Given the description of an element on the screen output the (x, y) to click on. 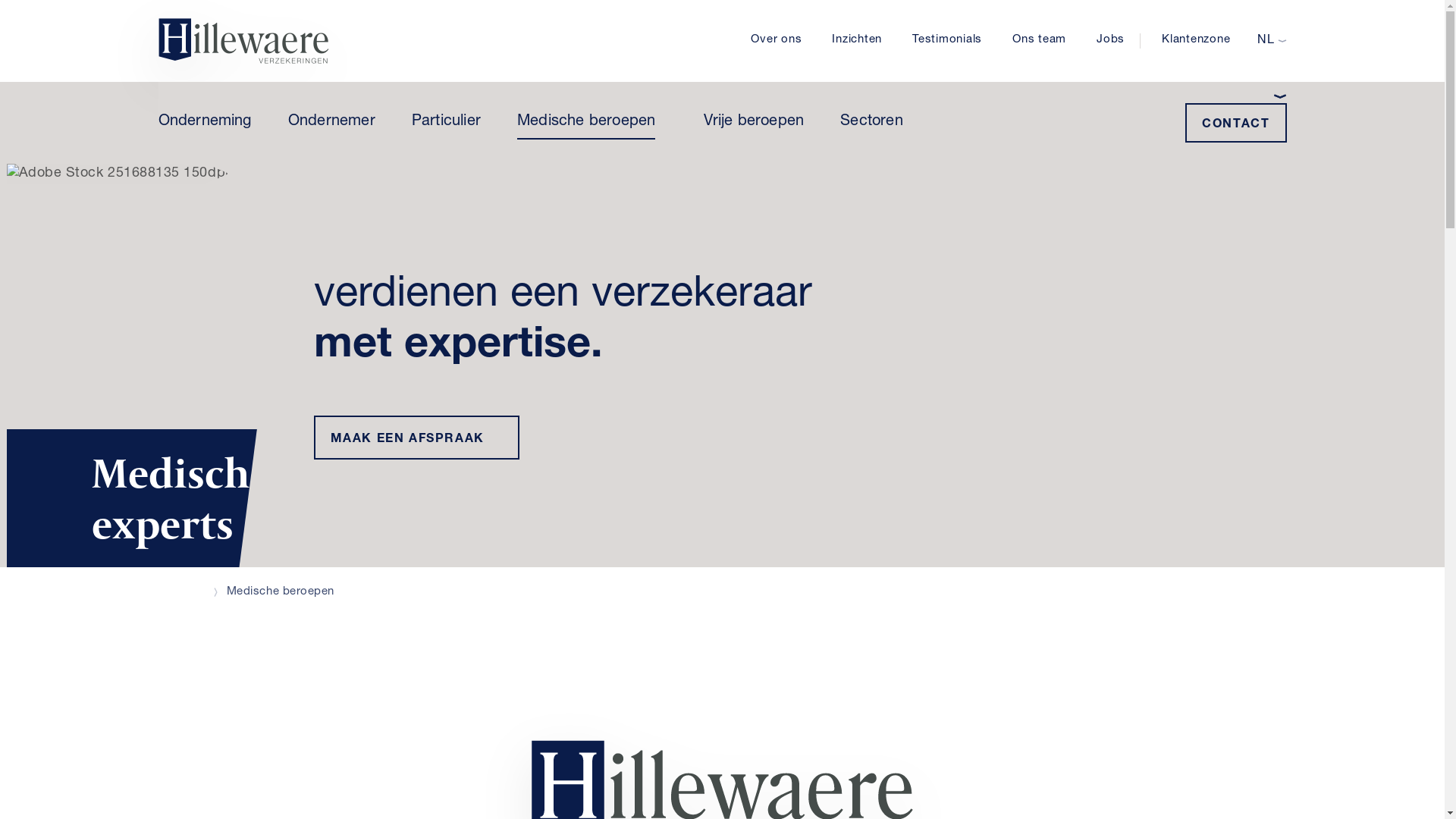
MAAK EEN AFSPRAAK Element type: text (416, 437)
Ga rechtstreeks naar de inhoud van deze website Element type: text (0, 0)
Sectoren Element type: text (871, 125)
NL Element type: text (1271, 40)
Over ons Element type: text (775, 40)
Ondernemer Element type: text (331, 125)
Klantenzone Element type: text (1192, 40)
Medische beroepen Element type: text (280, 591)
Jobs Element type: text (1110, 40)
Ons team Element type: text (1039, 40)
Inzichten Element type: text (856, 40)
Particulier Element type: text (445, 125)
Medische beroepen Element type: text (586, 125)
CONTACT Element type: text (1235, 122)
Testimonials Element type: text (947, 40)
Vrije beroepen Element type: text (753, 125)
Onderneming Element type: text (204, 125)
